Given the description of an element on the screen output the (x, y) to click on. 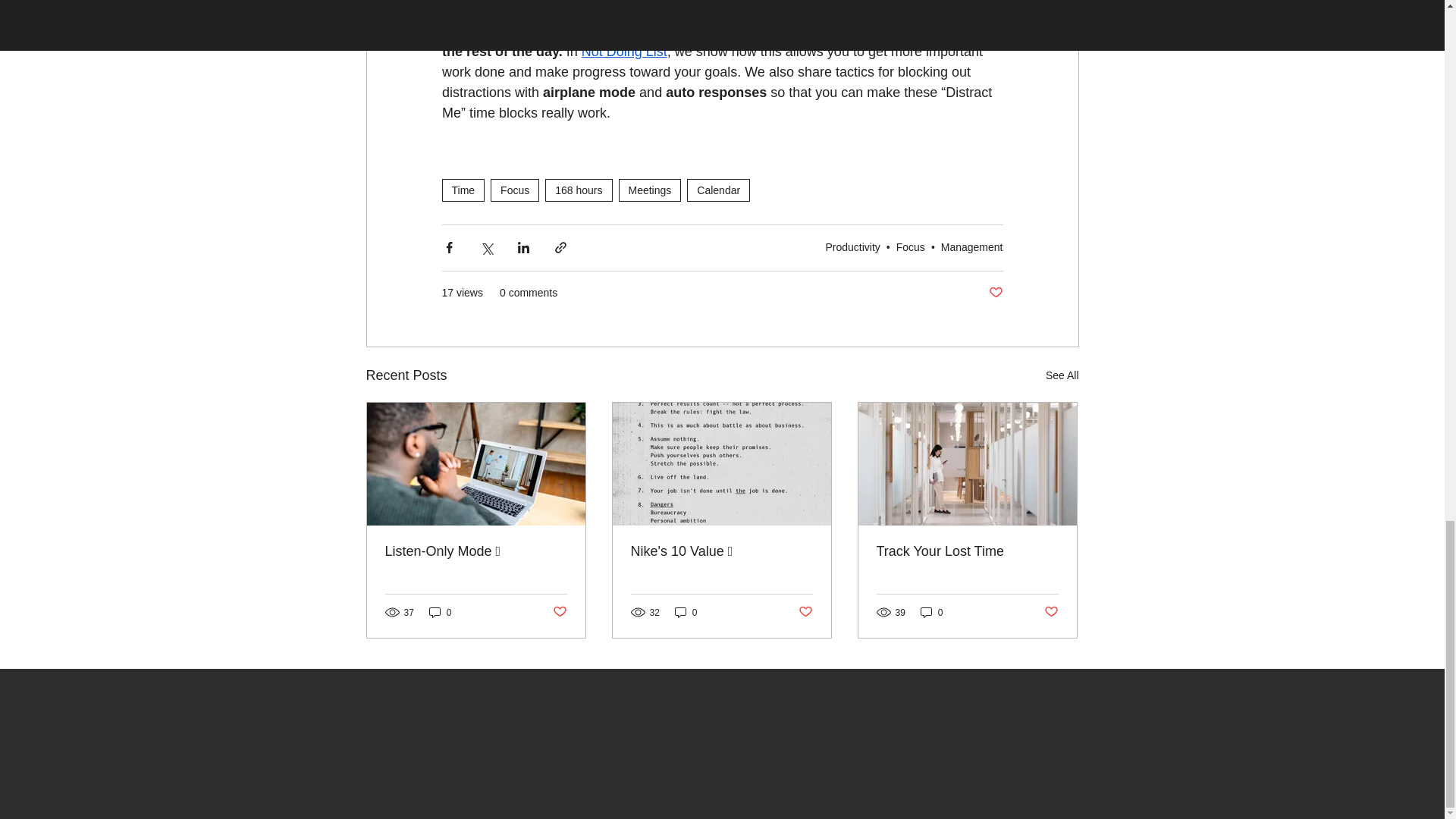
Post not marked as liked (995, 293)
Time (462, 190)
Focus (910, 246)
Productivity (852, 246)
Not Doing List (623, 51)
Focus (514, 190)
Meetings (649, 190)
Calendar (718, 190)
Management (971, 246)
168 hours (577, 190)
